Given the description of an element on the screen output the (x, y) to click on. 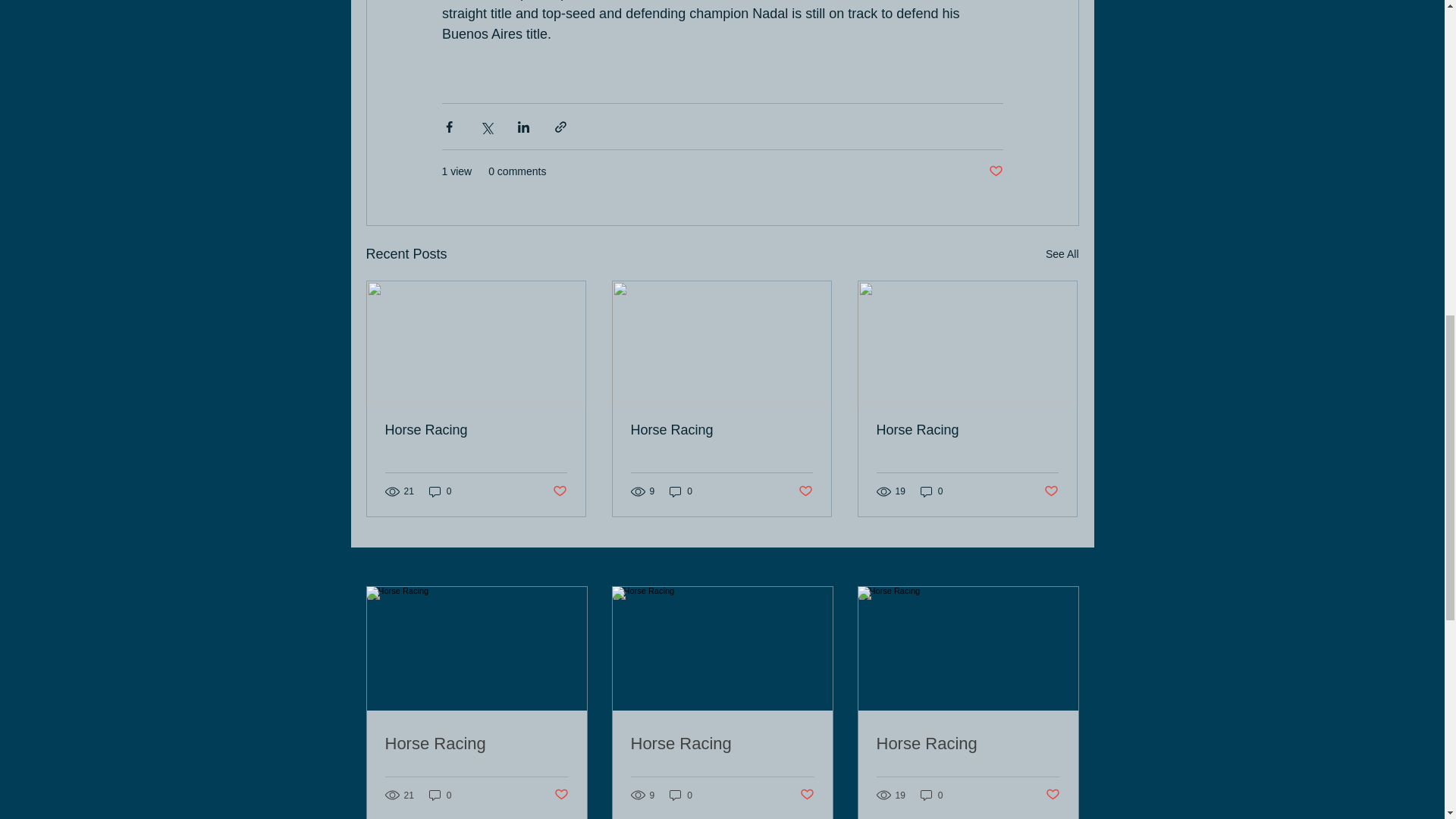
Post not marked as liked (560, 795)
0 (681, 491)
0 (681, 794)
Horse Racing (476, 430)
Post not marked as liked (804, 491)
Post not marked as liked (995, 171)
Post not marked as liked (558, 491)
Post not marked as liked (1050, 491)
Horse Racing (721, 430)
Horse Racing (967, 743)
